Given the description of an element on the screen output the (x, y) to click on. 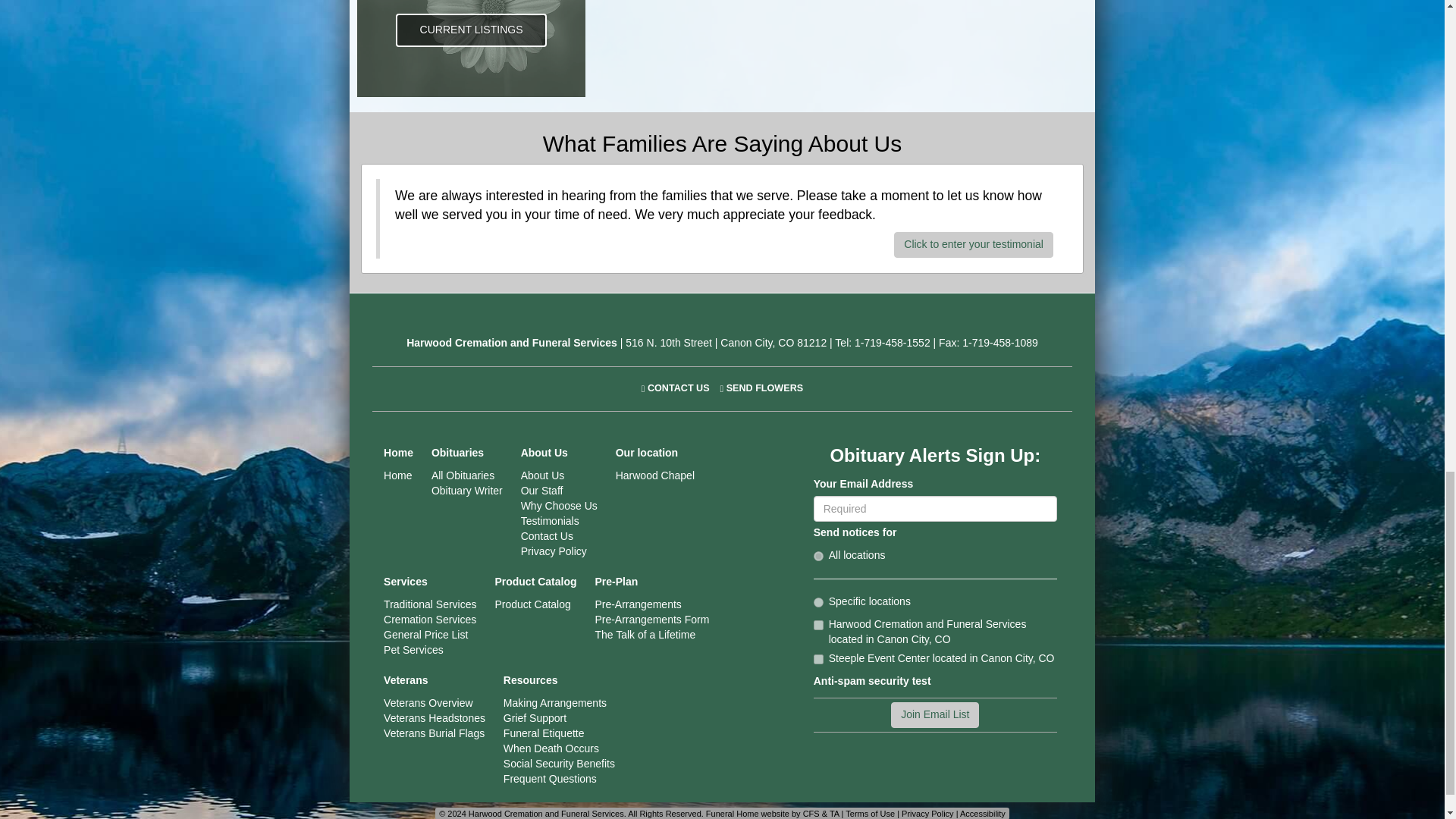
specific (818, 602)
all (818, 556)
791 (818, 659)
222 (818, 624)
